Given the description of an element on the screen output the (x, y) to click on. 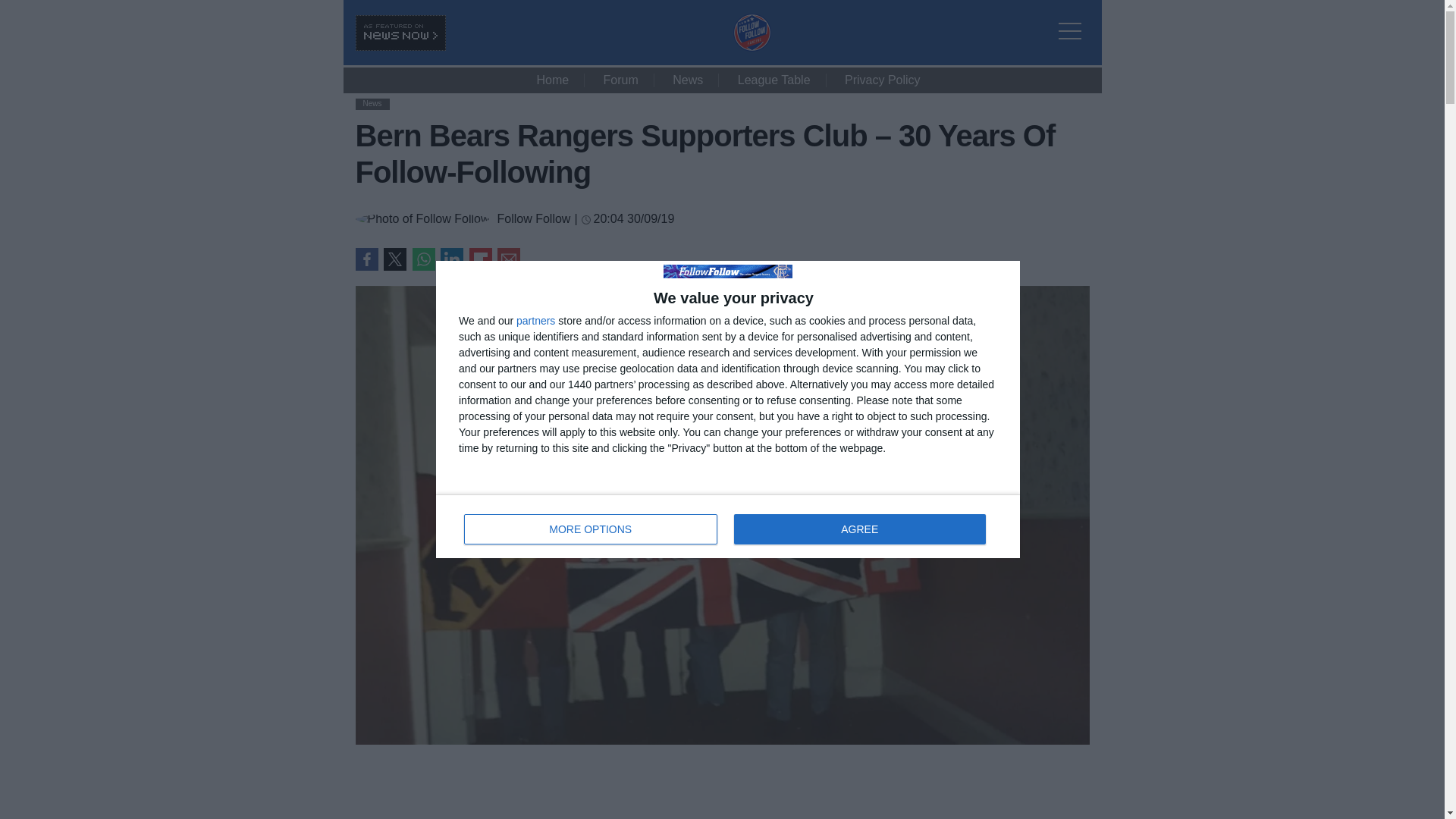
Forum (620, 79)
share on Flipboard (480, 258)
Back to the homepage (751, 47)
Menu (1074, 21)
Follow Follow (533, 218)
share on Facebook (366, 258)
Privacy Policy (882, 79)
share on Twitter (395, 258)
News (371, 103)
League Table (773, 79)
Home (552, 79)
AGREE (859, 529)
share on WhatsApp (423, 258)
share on Email (508, 258)
partners (535, 320)
